Given the description of an element on the screen output the (x, y) to click on. 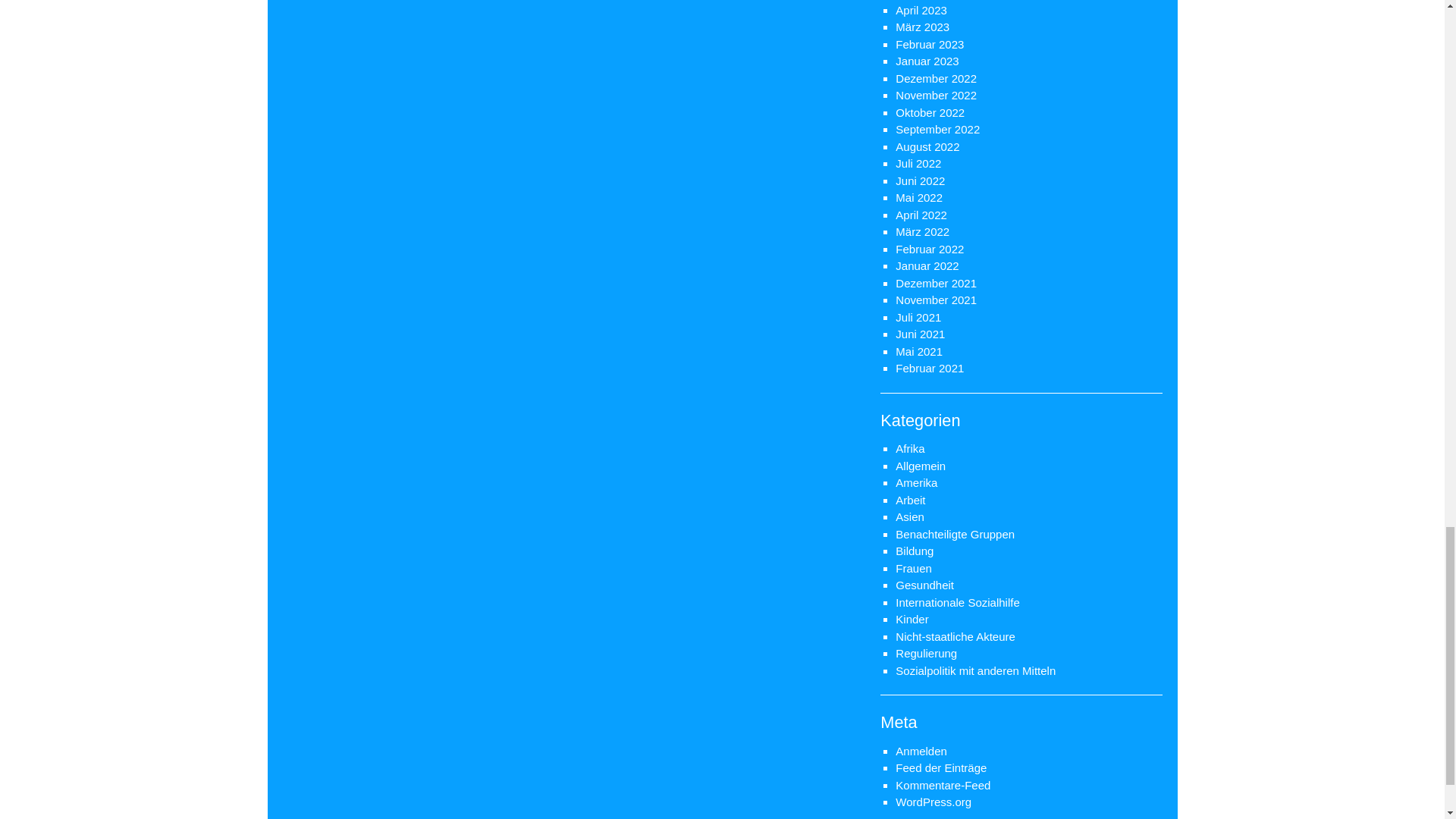
Februar 2023 (929, 43)
Januar 2023 (926, 60)
April 2023 (921, 10)
Dezember 2022 (935, 78)
